Given the description of an element on the screen output the (x, y) to click on. 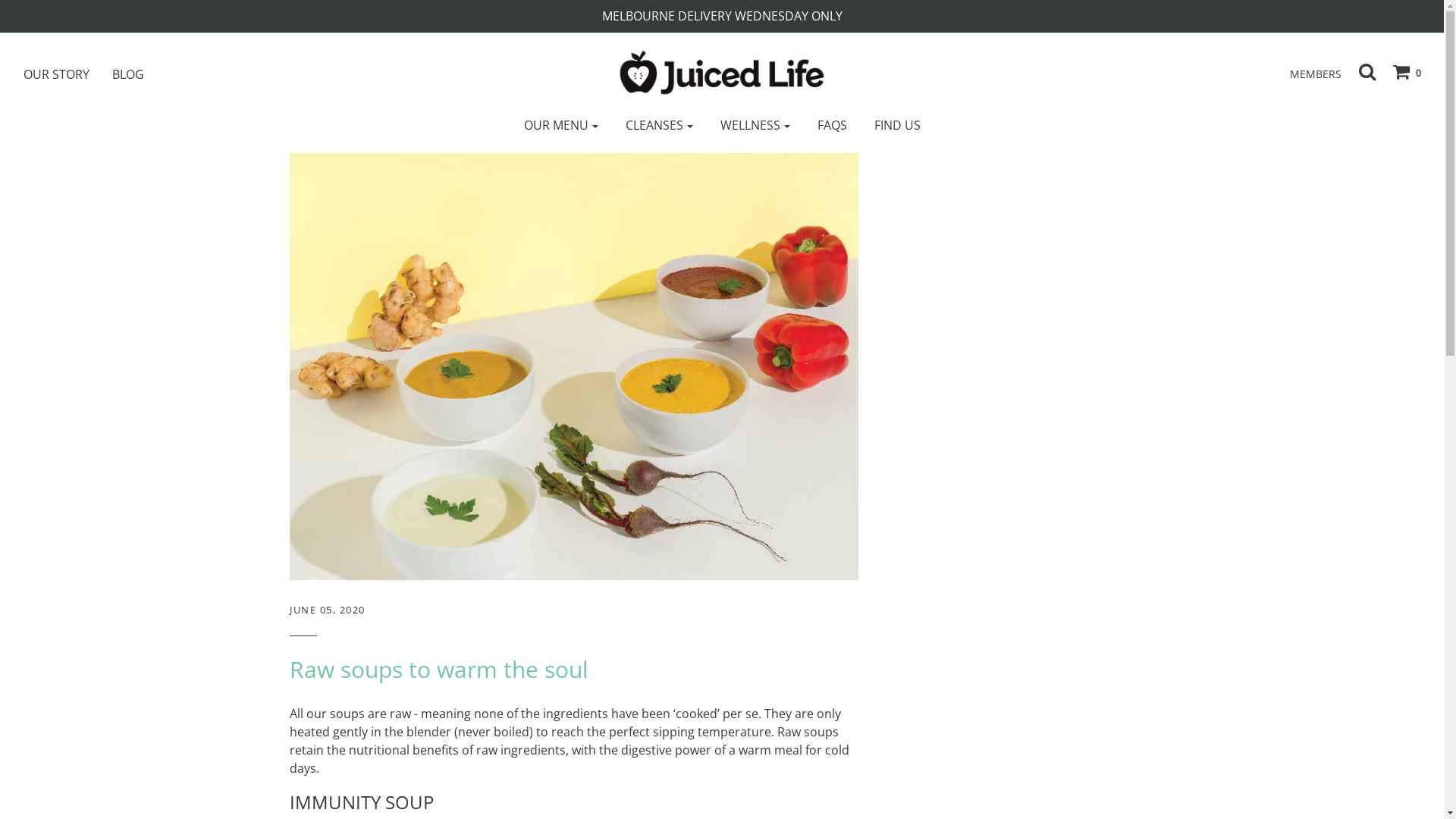
MELBOURNE DELIVERY WEDNESDAY ONLY Element type: text (721, 16)
WELLNESS Element type: text (754, 125)
OUR MENU Element type: text (560, 125)
Raw soups to warm the soul Element type: text (438, 668)
OUR STORY Element type: text (67, 73)
CLEANSES Element type: text (659, 125)
FIND US Element type: text (896, 125)
BLOG Element type: text (139, 73)
0 Element type: text (1399, 71)
MEMBERS Element type: text (1307, 77)
FAQS Element type: text (831, 125)
Search Element type: hover (1359, 71)
